Given the description of an element on the screen output the (x, y) to click on. 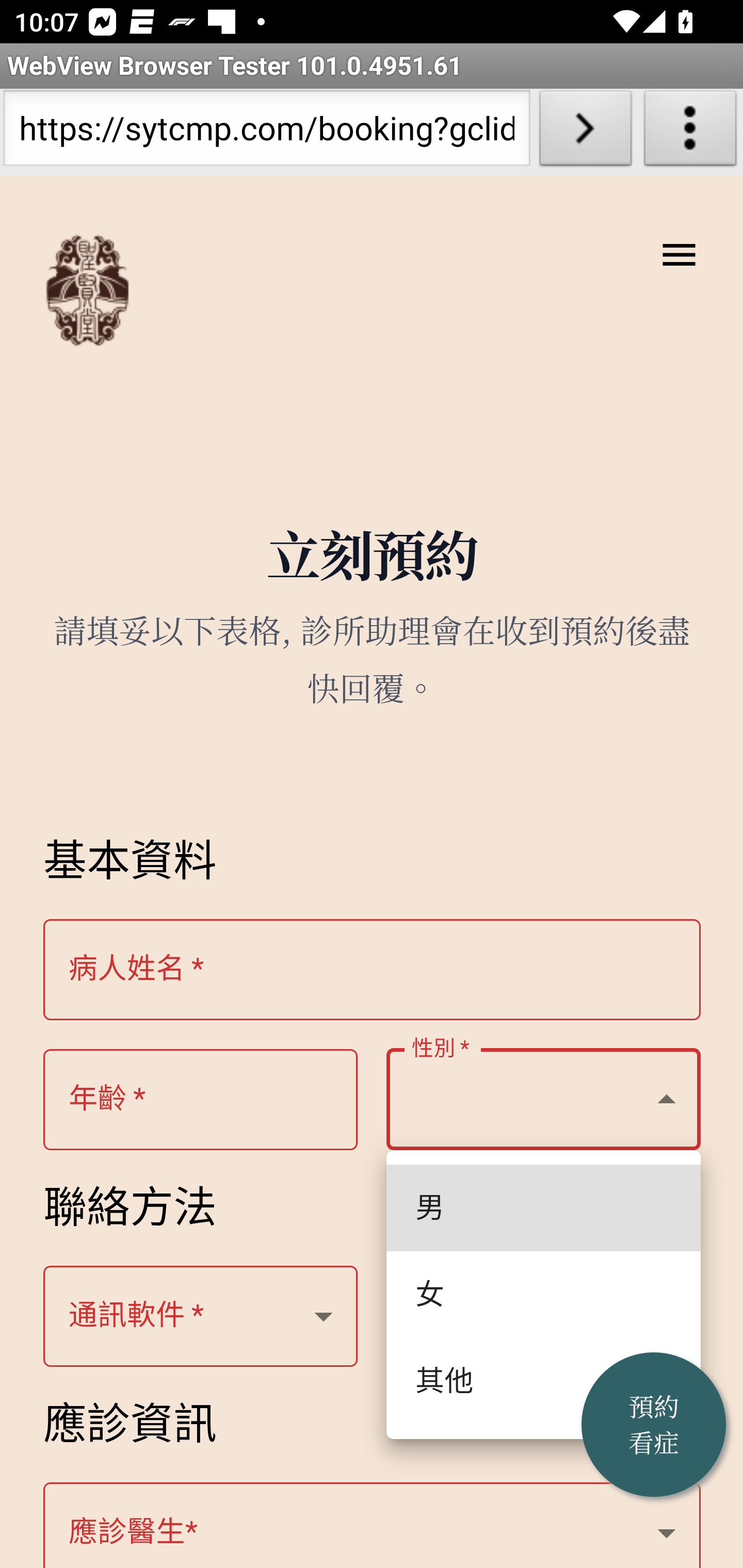
Load URL (585, 132)
About WebView (690, 132)
男 (544, 1208)
女 (544, 1294)
其他 (544, 1381)
